Given the description of an element on the screen output the (x, y) to click on. 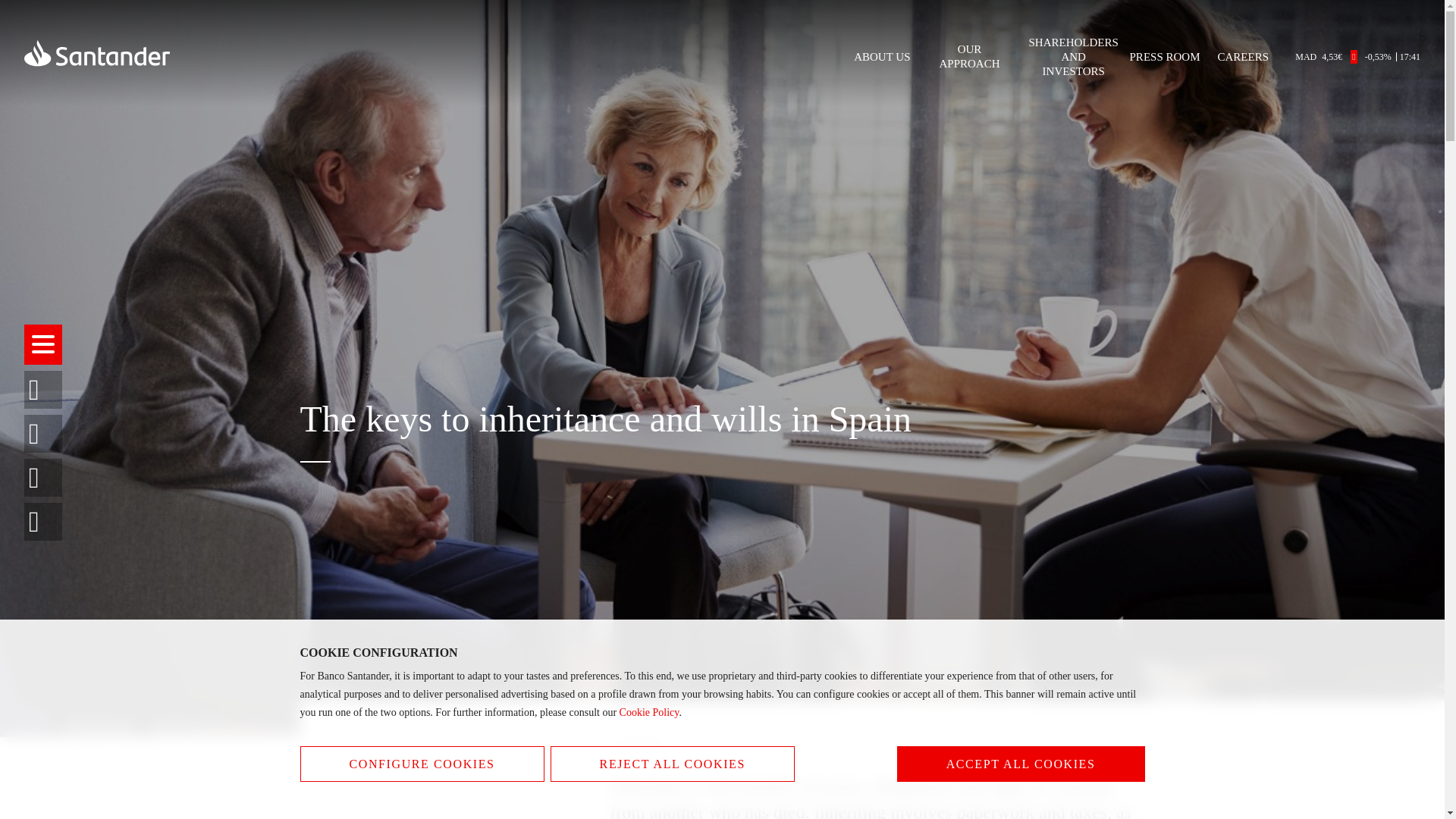
PRESS ROOM (1164, 56)
SHAREHOLDERS AND INVESTORS (1073, 56)
OUR APPROACH (969, 56)
CAREERS (1242, 56)
ABOUT US (881, 56)
